Given the description of an element on the screen output the (x, y) to click on. 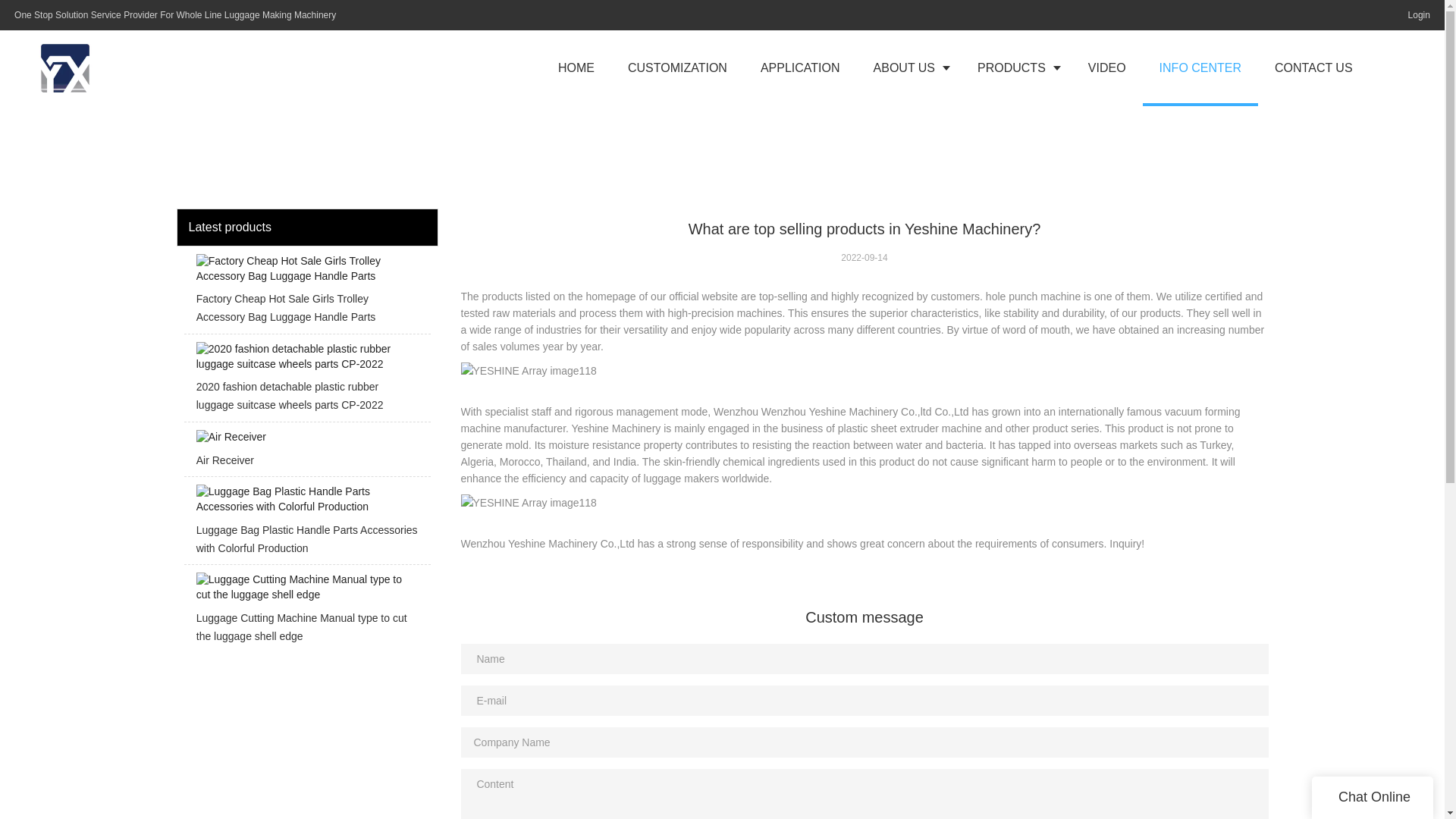
VIDEO (1106, 68)
APPLICATION (800, 68)
PRODUCTS (1015, 68)
Air Receiver (306, 452)
CONTACT US (1313, 68)
HOME (576, 68)
Login (1414, 15)
CUSTOMIZATION (677, 68)
